Given the description of an element on the screen output the (x, y) to click on. 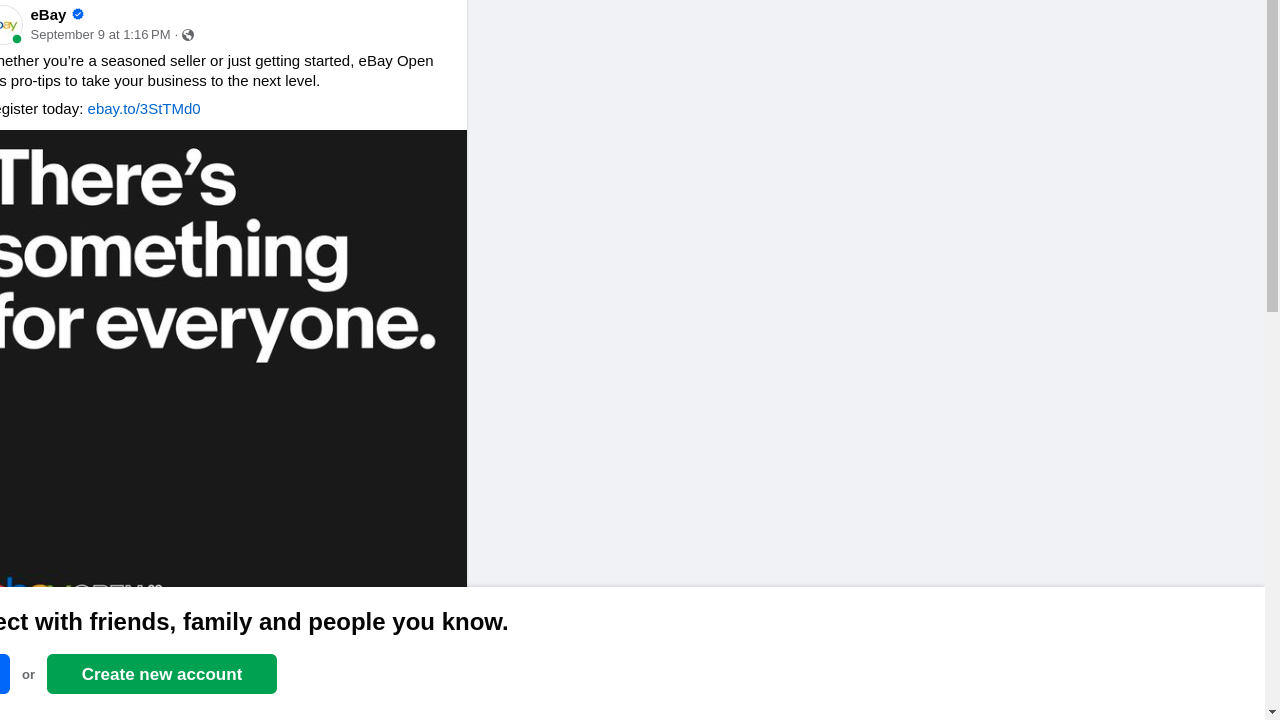
ebay.to/3StTMd0 Element type: link (144, 108)
2 Element type: push-button (436, 650)
